Given the description of an element on the screen output the (x, y) to click on. 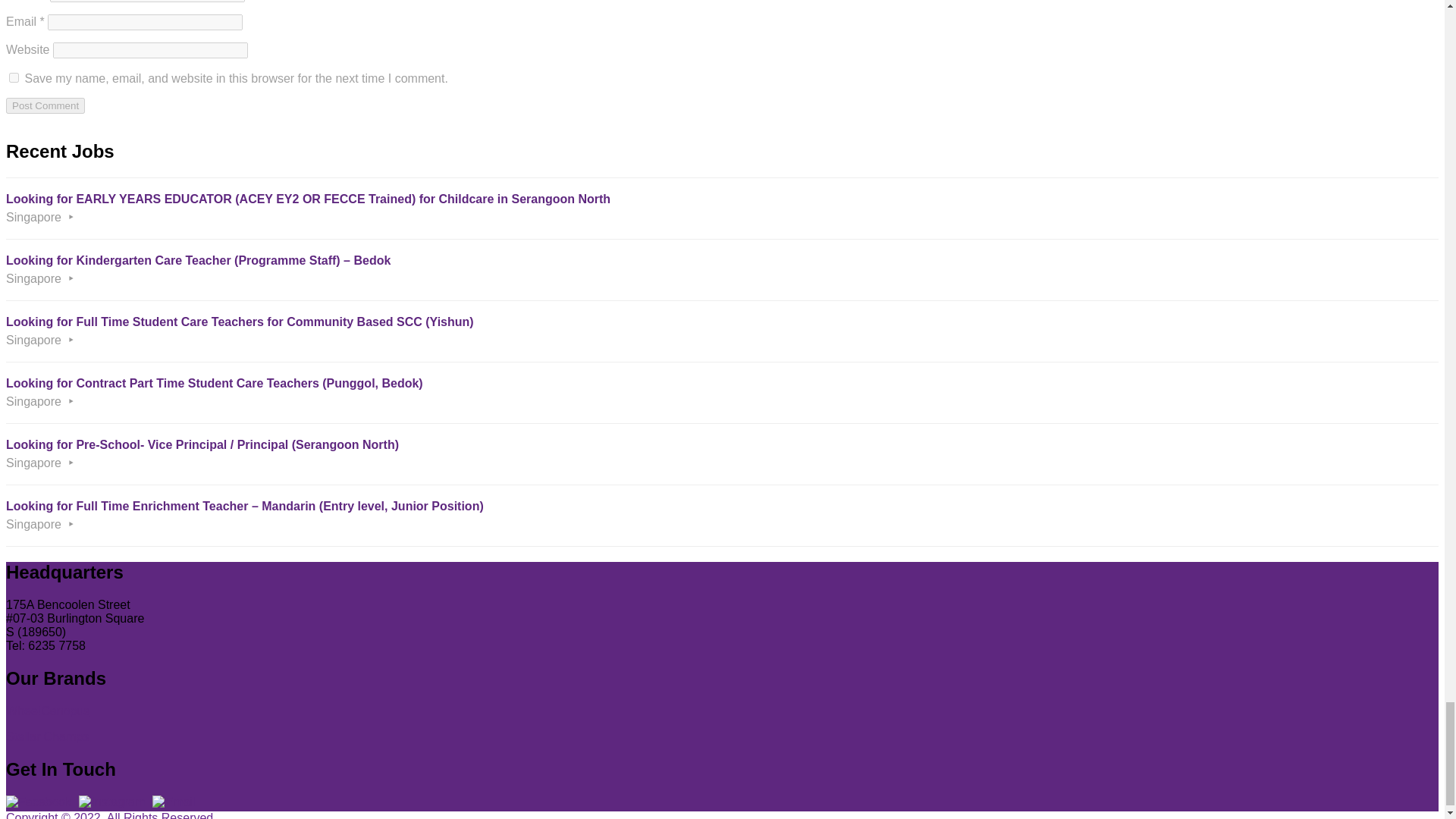
Post Comment (44, 105)
Stellar Champs (46, 736)
 Facebook (38, 802)
 Instagram (111, 802)
yes (13, 77)
Whee!Canopus (46, 710)
 Email (173, 802)
Post Comment (44, 105)
